Given the description of an element on the screen output the (x, y) to click on. 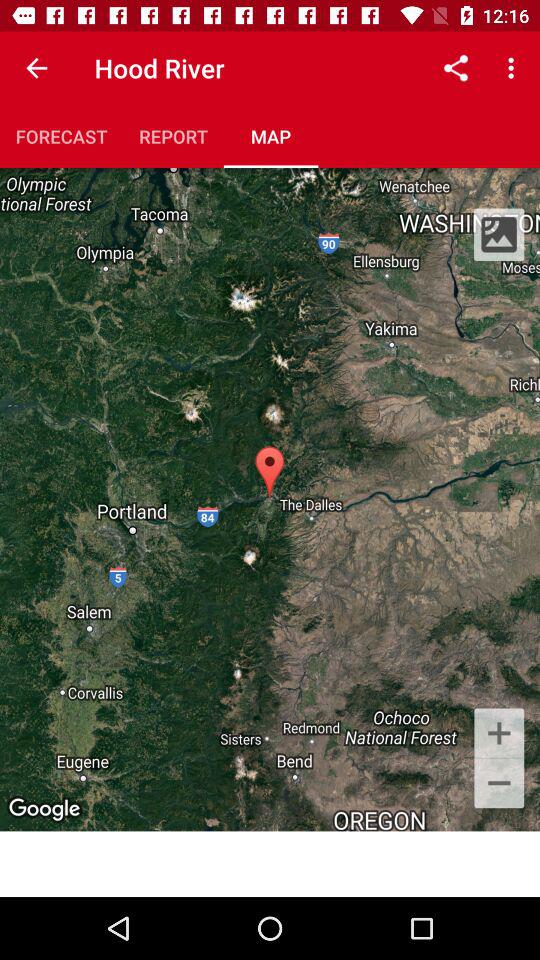
tap the icon at the center (270, 499)
